Given the description of an element on the screen output the (x, y) to click on. 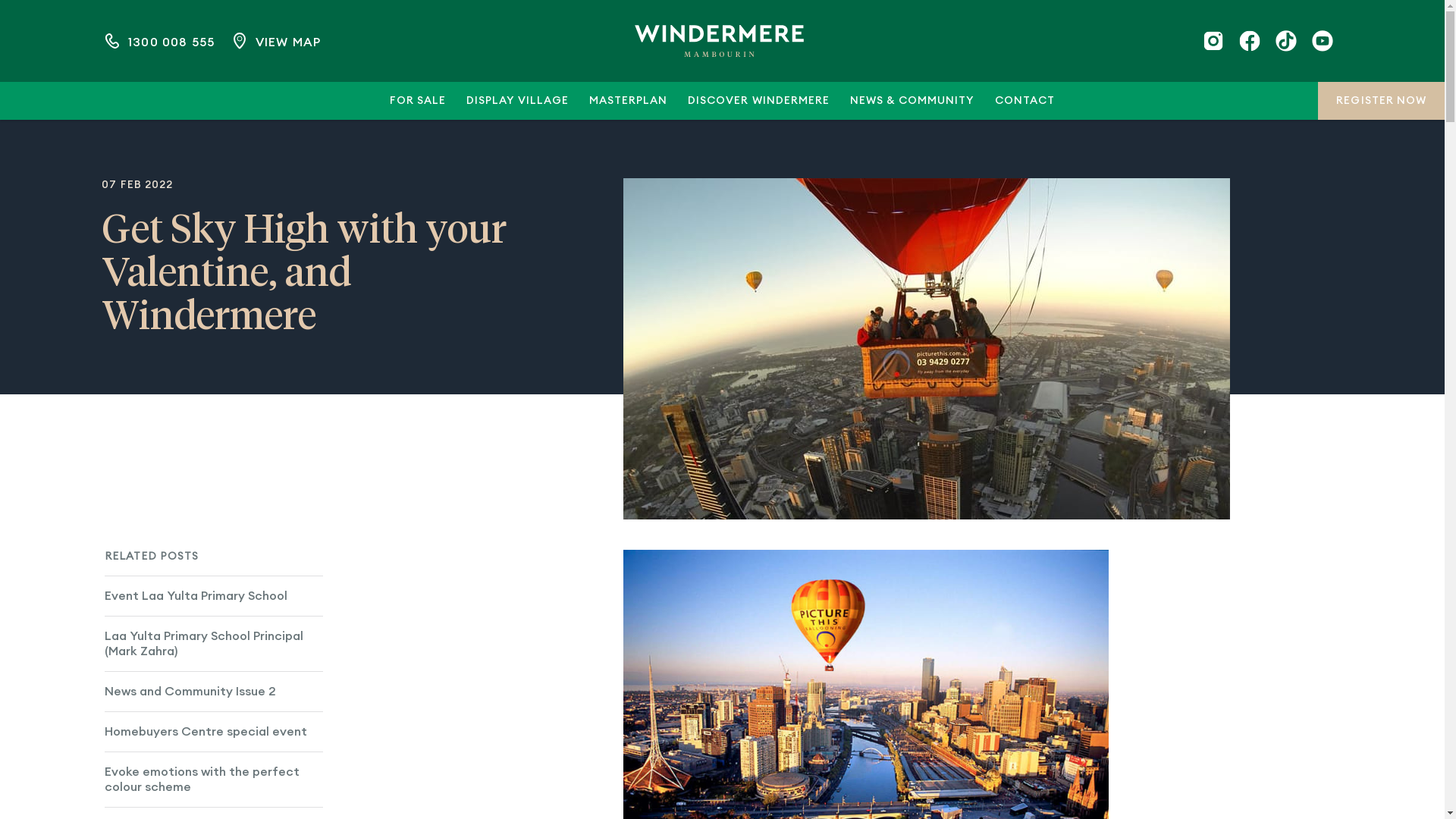
Laa Yulta Primary School Principal (Mark Zahra) Element type: text (213, 643)
CONTACT Element type: text (1024, 100)
News and Community Issue 2 Element type: text (213, 691)
VIEW MAP Element type: text (274, 40)
DISPLAY VILLAGE Element type: text (517, 100)
1300 008 555 Element type: text (157, 40)
REGISTER NOW Element type: text (1380, 100)
Evoke emotions with the perfect colour scheme Element type: text (213, 778)
Homebuyers Centre special event Element type: text (213, 731)
NEWS & COMMUNITY Element type: text (912, 100)
Event Laa Yulta Primary School Element type: text (213, 595)
Windermere Element type: hover (718, 40)
